Given the description of an element on the screen output the (x, y) to click on. 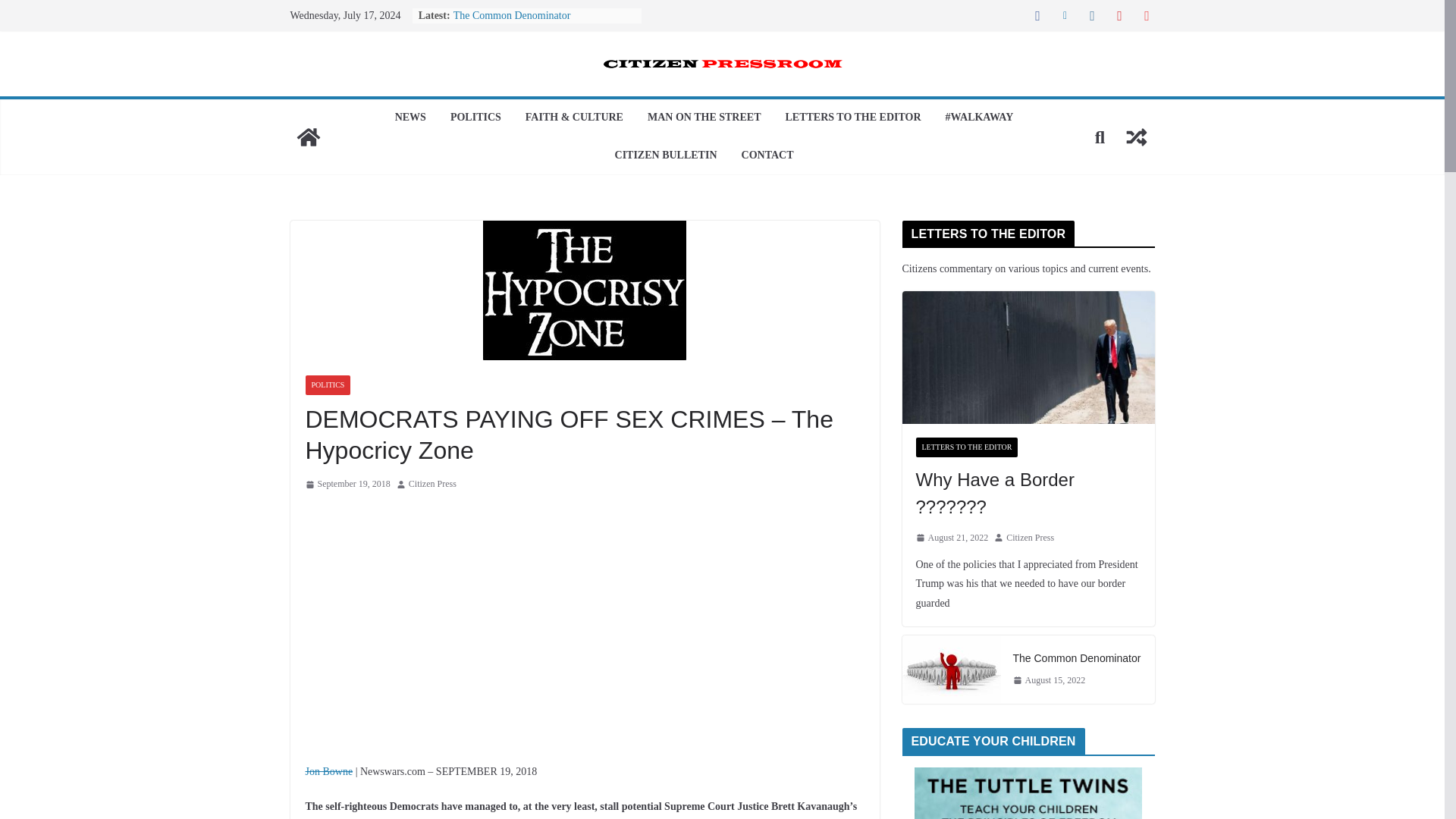
NEWS (410, 118)
POLITICS (327, 384)
4:37 pm (347, 484)
The Common Denominator (511, 15)
Jon Bowne (328, 771)
LETTERS TO THE EDITOR (852, 118)
CITIZEN BULLETIN (665, 155)
The Common Denominator (511, 15)
MAN ON THE STREET (704, 118)
Citizen Press (433, 484)
Citizen Press (433, 484)
Posts by Jon Bowne (328, 771)
View a random post (1136, 136)
POLITICS (474, 118)
September 19, 2018 (347, 484)
